Given the description of an element on the screen output the (x, y) to click on. 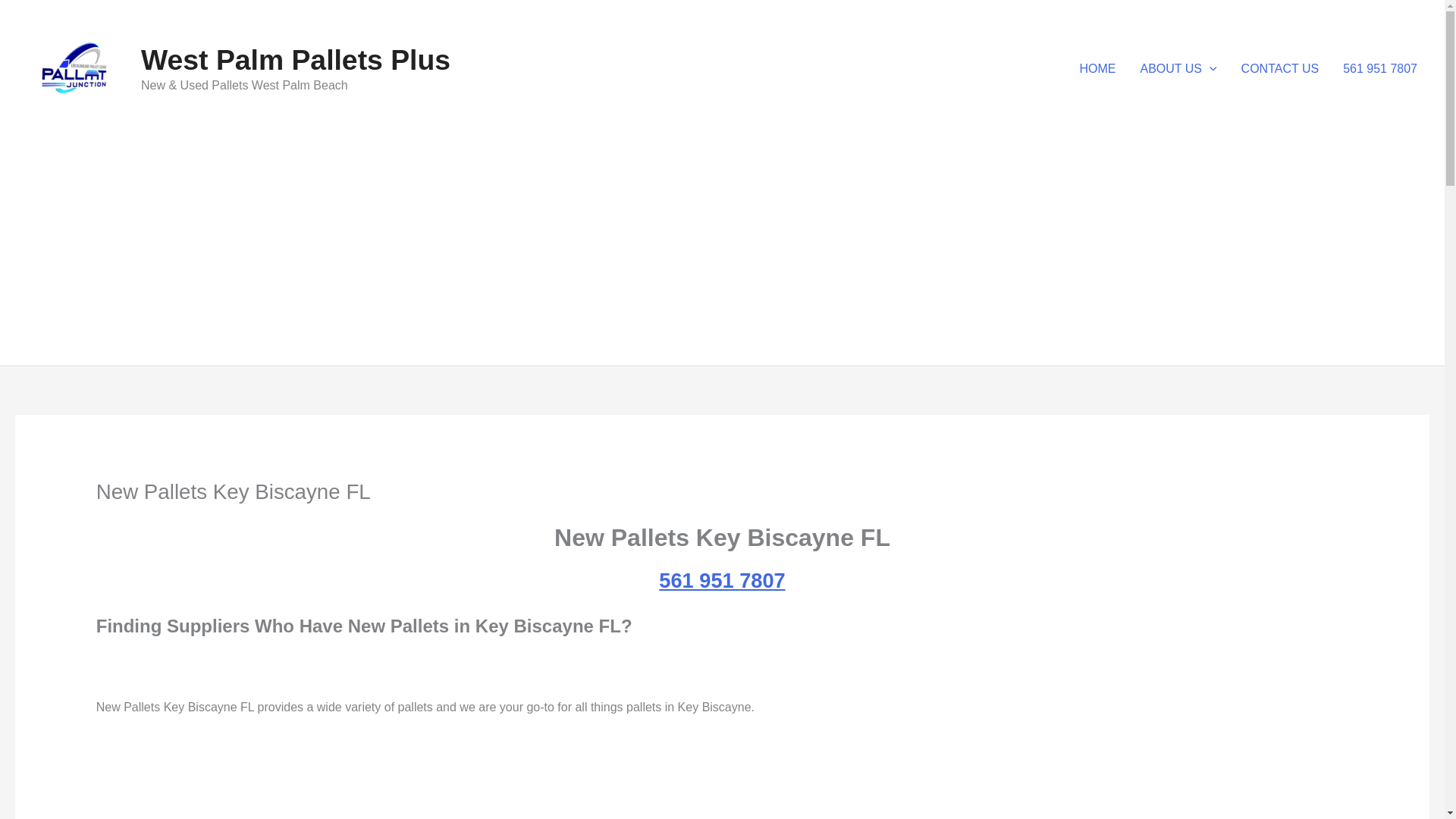
HOME (1097, 68)
West Palm Pallets Plus (295, 60)
ABOUT US (1178, 68)
CONTACT US (1280, 68)
561 951 7807 (1379, 68)
